Given the description of an element on the screen output the (x, y) to click on. 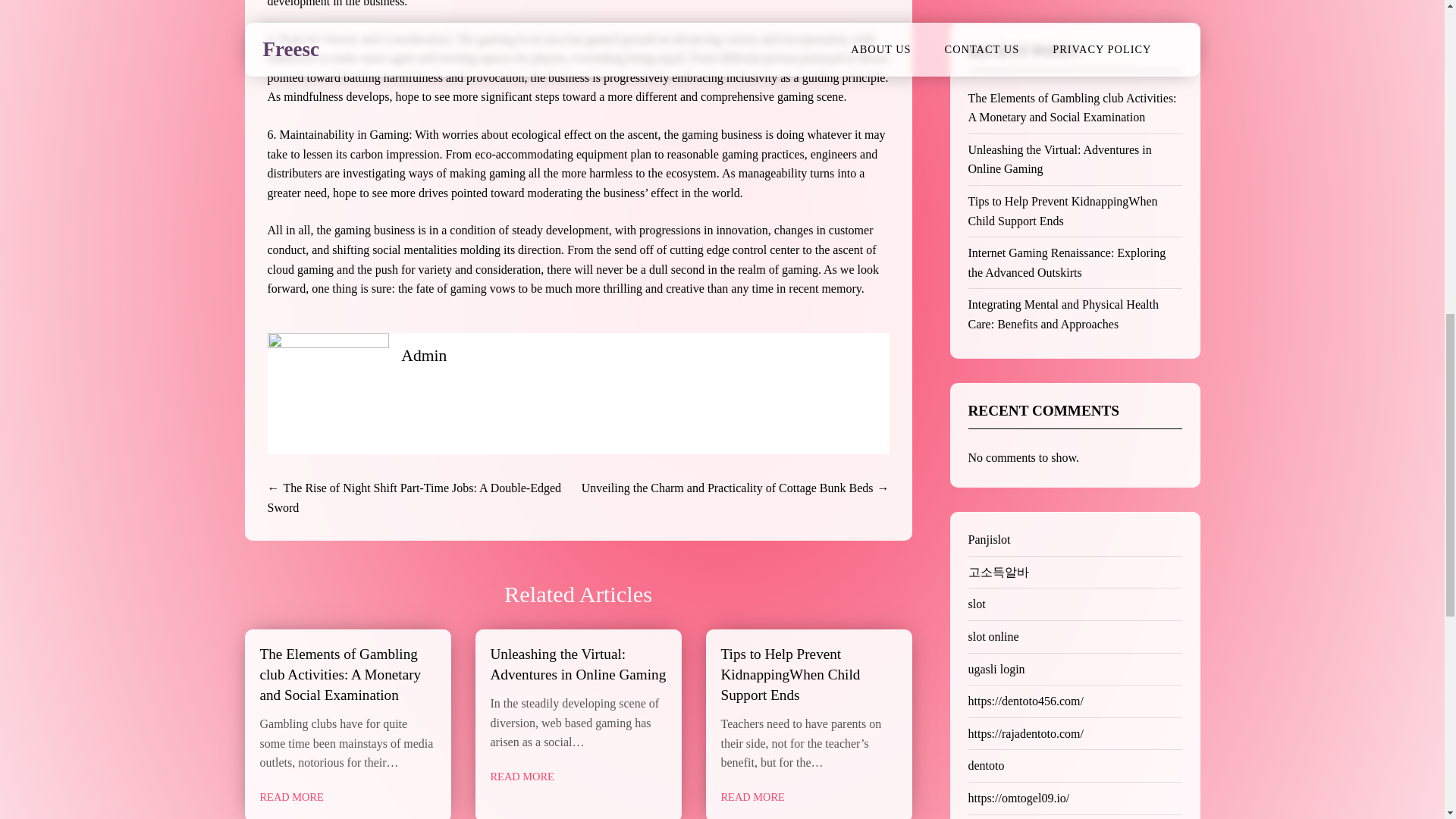
READ MORE (752, 796)
Tips to Help Prevent KidnappingWhen Child Support Ends (1062, 210)
The Rise of Night Shift Part-Time Jobs: A Double-Edged Sword (413, 497)
Unleashing the Virtual: Adventures in Online Gaming (577, 664)
READ MORE (291, 796)
READ MORE (521, 776)
Tips to Help Prevent KidnappingWhen Child Support Ends (790, 674)
Unveiling the Charm and Practicality of Cottage Bunk Beds (726, 487)
Admin (423, 355)
Unleashing the Virtual: Adventures in Online Gaming (1059, 159)
